Given the description of an element on the screen output the (x, y) to click on. 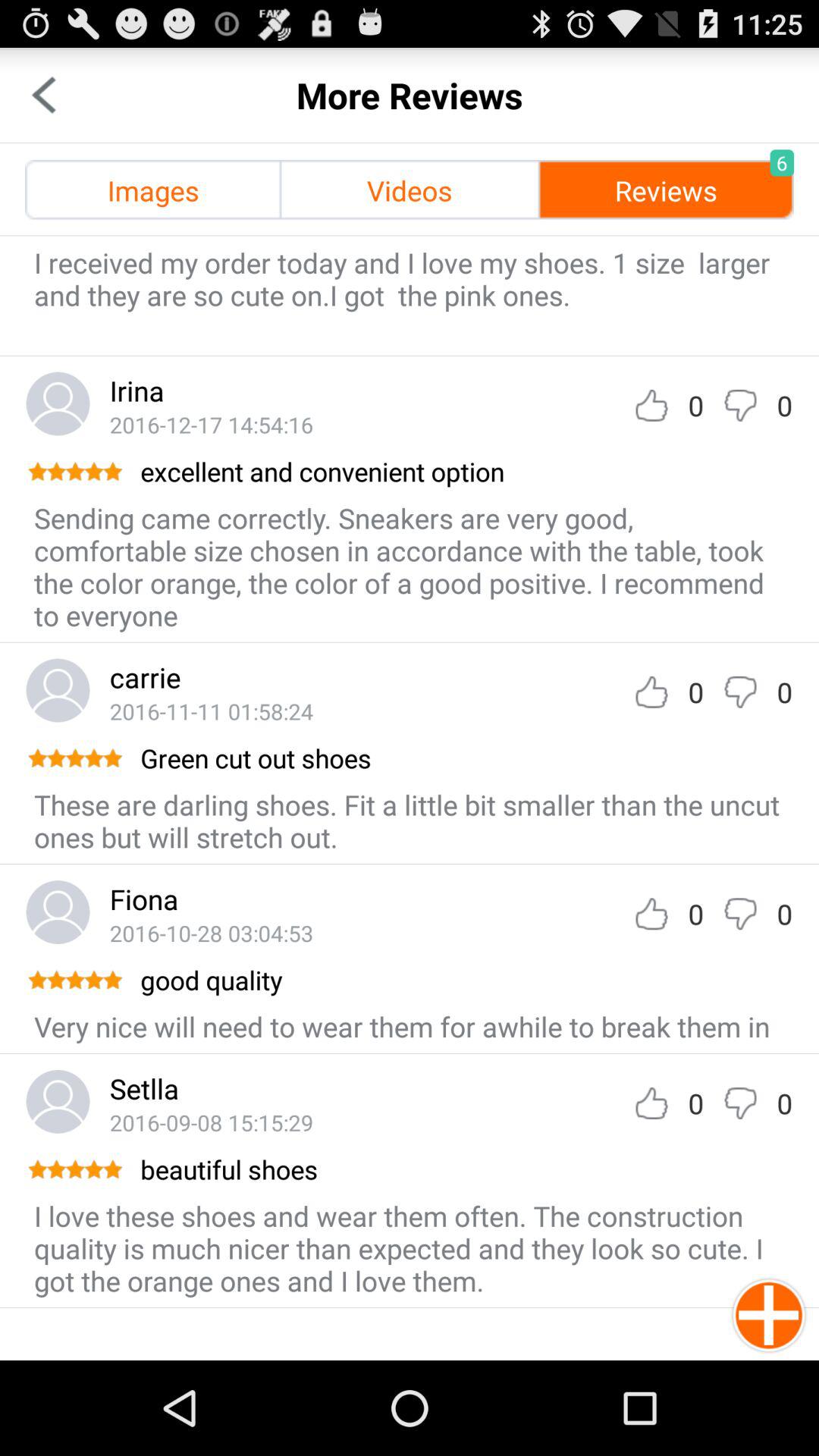
press the app below the 2016 09 08 item (465, 1168)
